Given the description of an element on the screen output the (x, y) to click on. 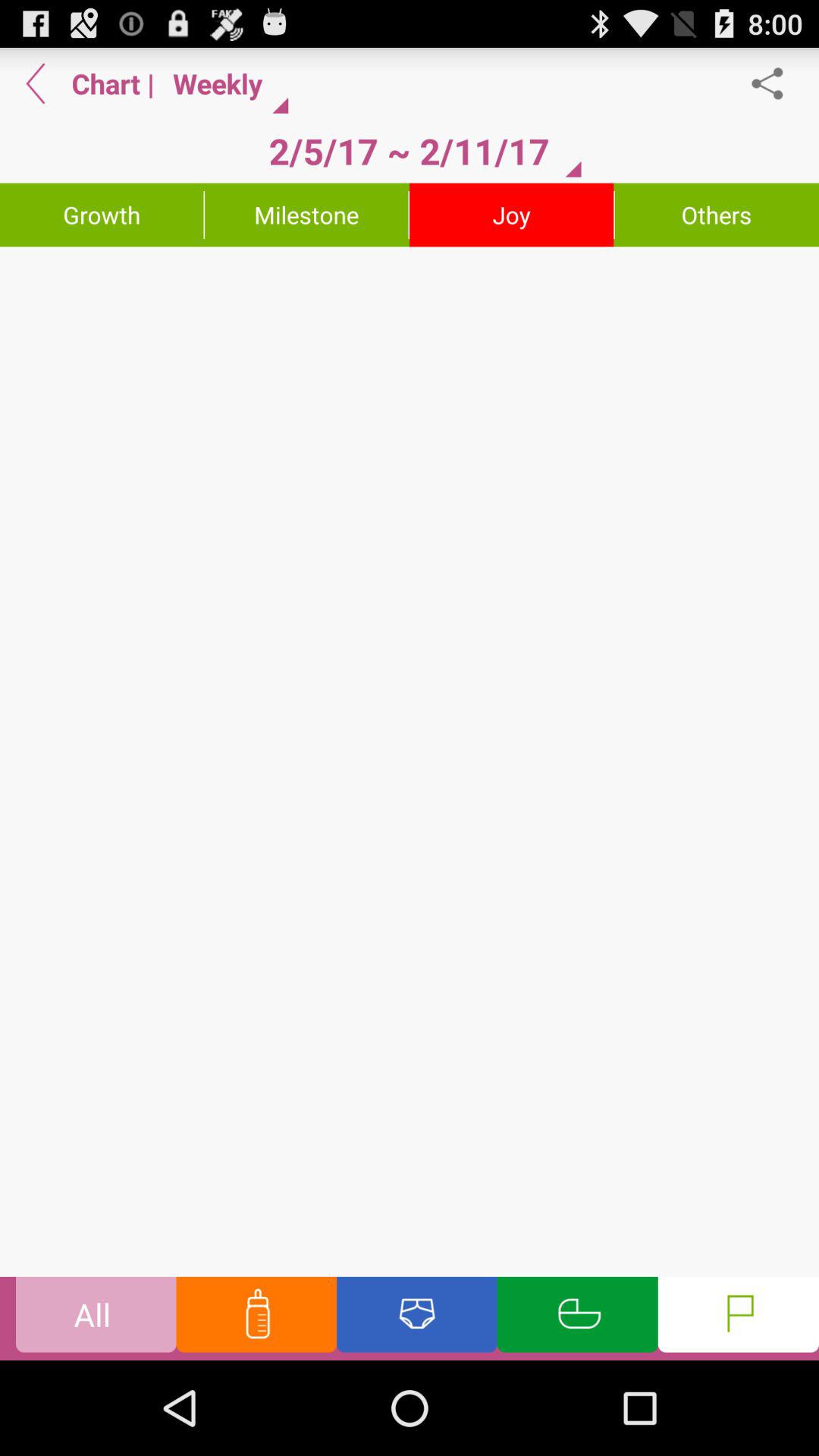
write (409, 761)
